Given the description of an element on the screen output the (x, y) to click on. 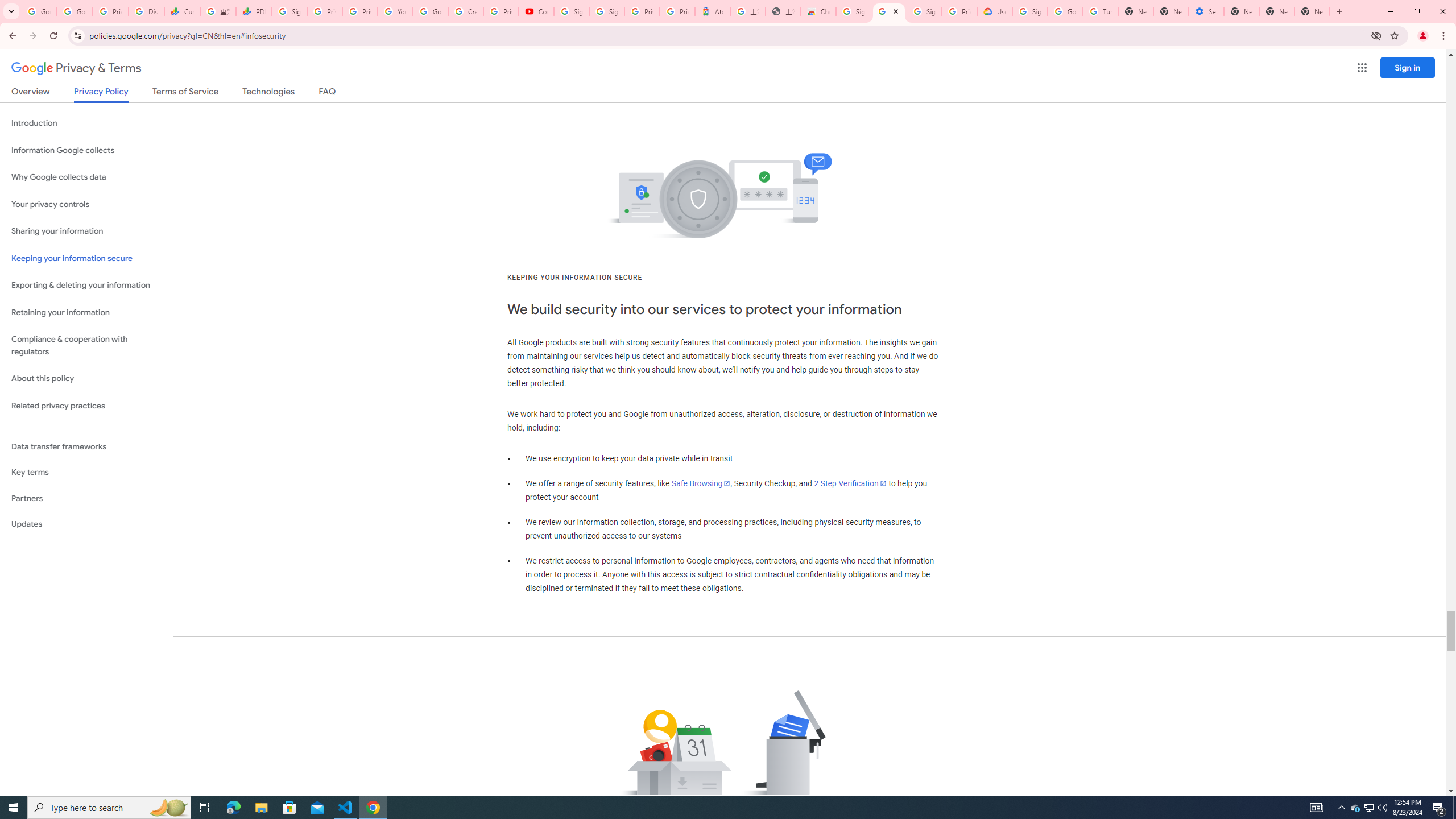
Privacy Checkup (359, 11)
Turn cookies on or off - Computer - Google Account Help (1099, 11)
Sign in - Google Accounts (1029, 11)
Chrome Web Store - Color themes by Chrome (817, 11)
PDD Holdings Inc - ADR (PDD) Price & News - Google Finance (253, 11)
Why Google collects data (86, 176)
